Given the description of an element on the screen output the (x, y) to click on. 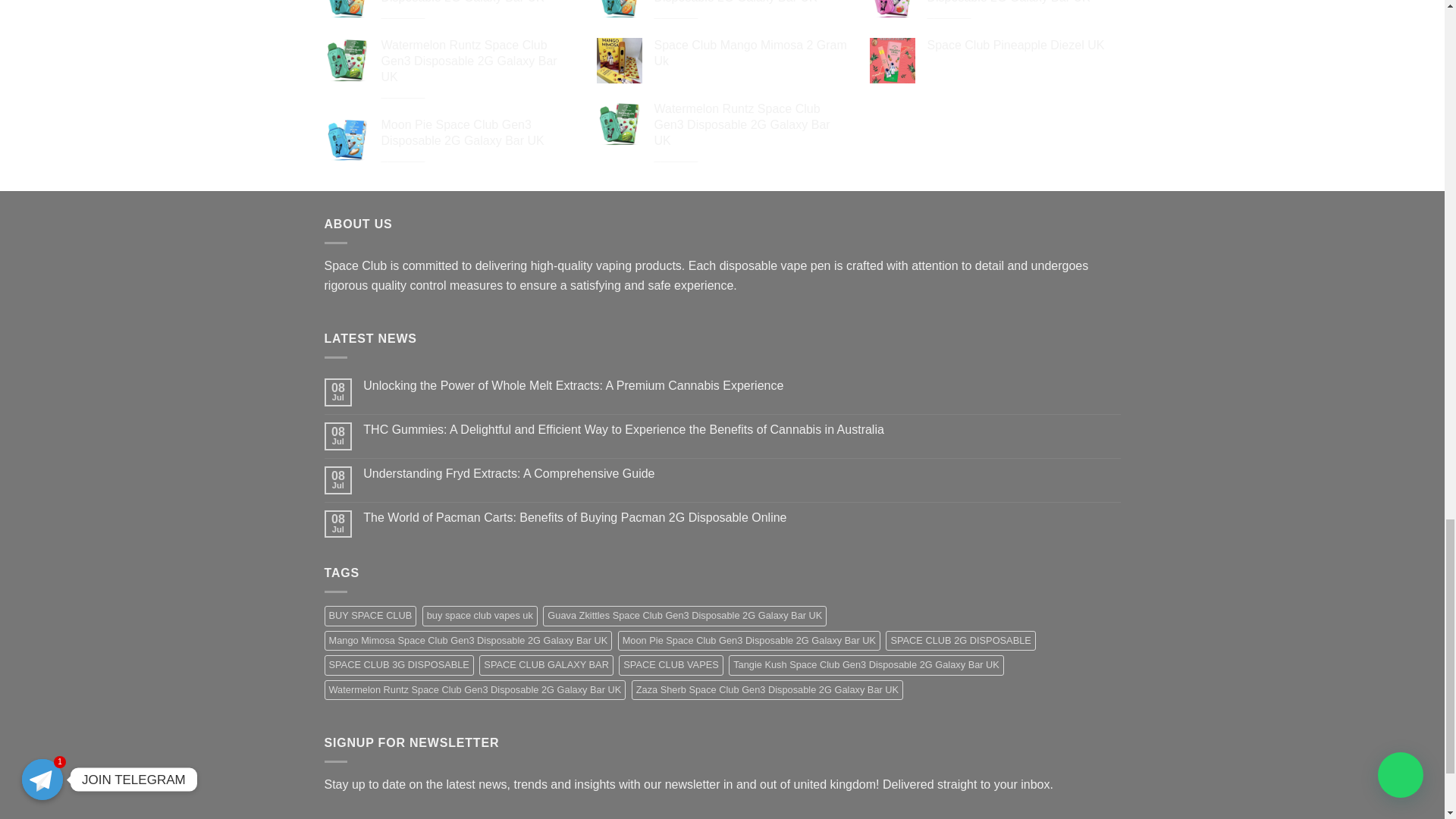
Understanding Fryd Extracts: A Comprehensive Guide (740, 473)
